Given the description of an element on the screen output the (x, y) to click on. 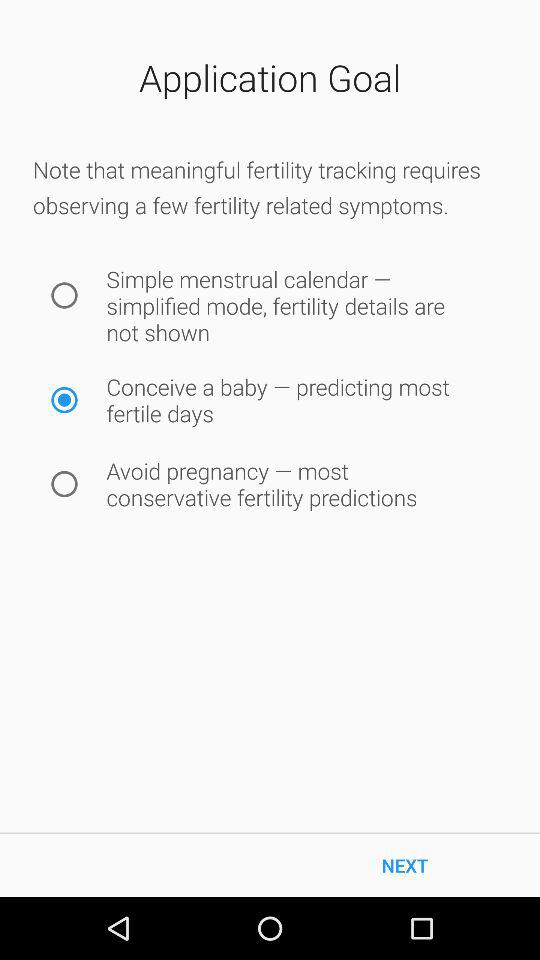
select response (64, 295)
